Given the description of an element on the screen output the (x, y) to click on. 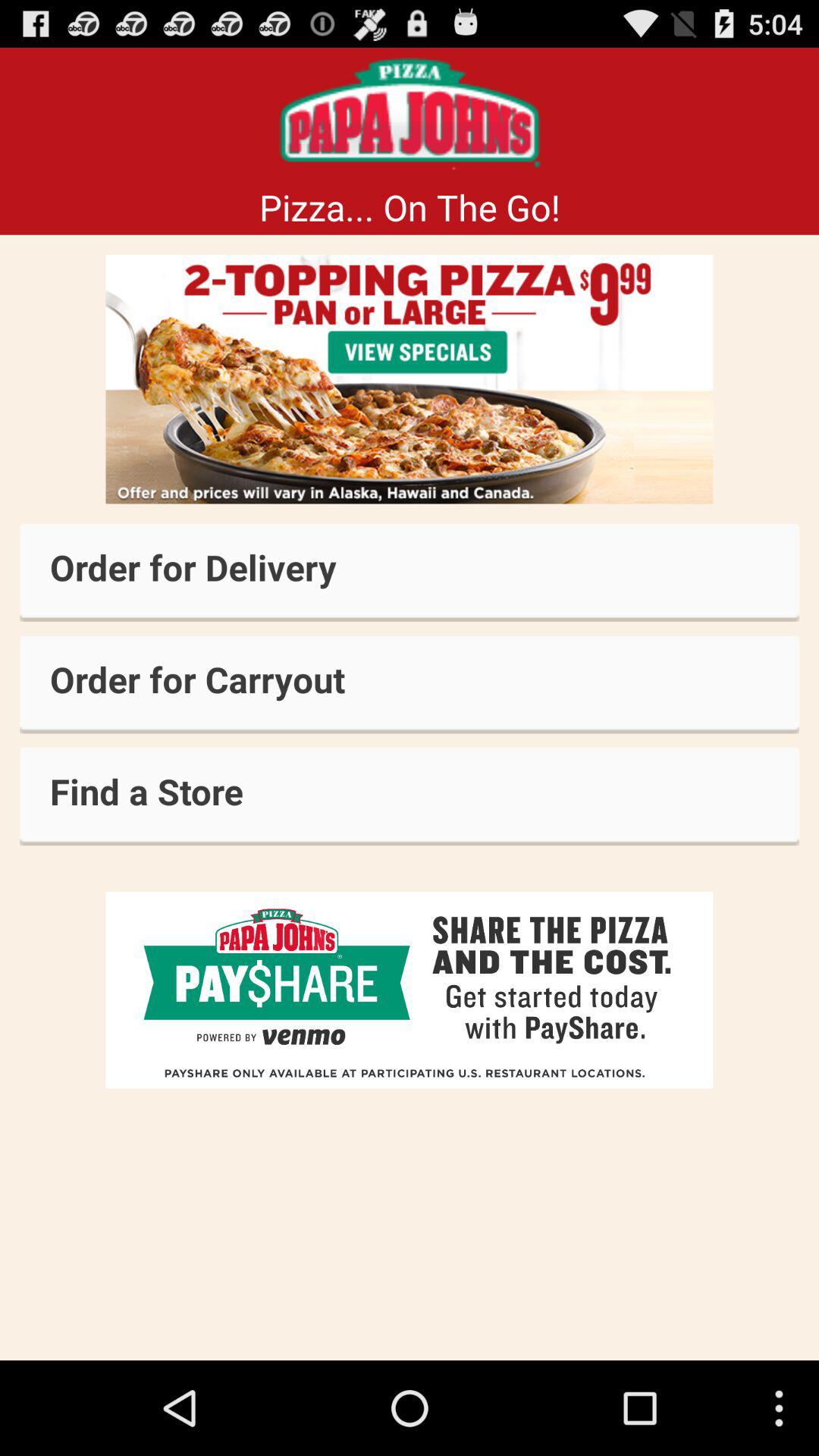
jump until find a store (409, 796)
